Given the description of an element on the screen output the (x, y) to click on. 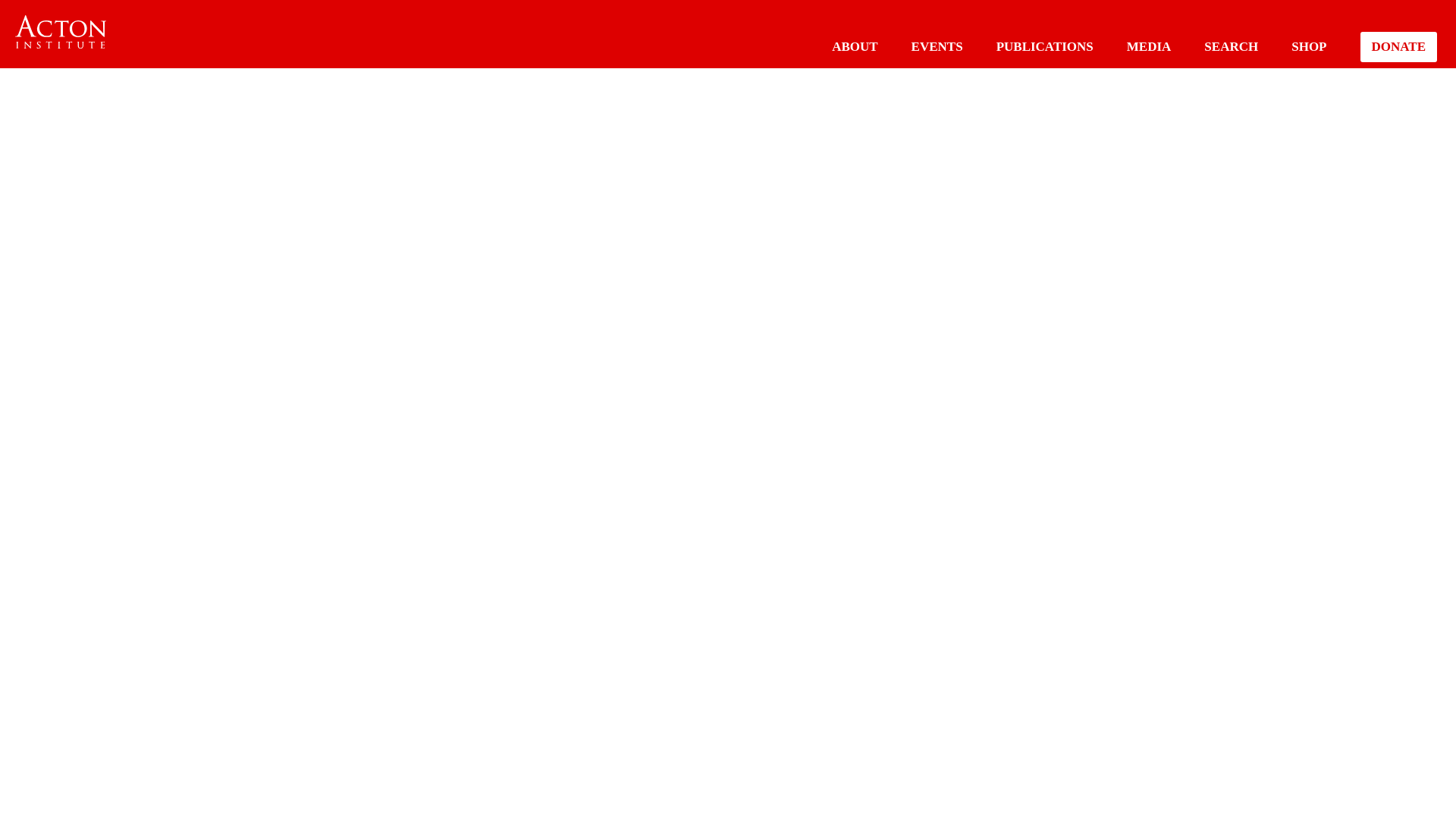
The Acton Institute (60, 31)
EVENTS (936, 46)
ABOUT (854, 46)
MEDIA (1149, 46)
SEARCH (1230, 46)
PUBLICATIONS (1044, 46)
DONATE (1398, 46)
SHOP (1308, 46)
